Given the description of an element on the screen output the (x, y) to click on. 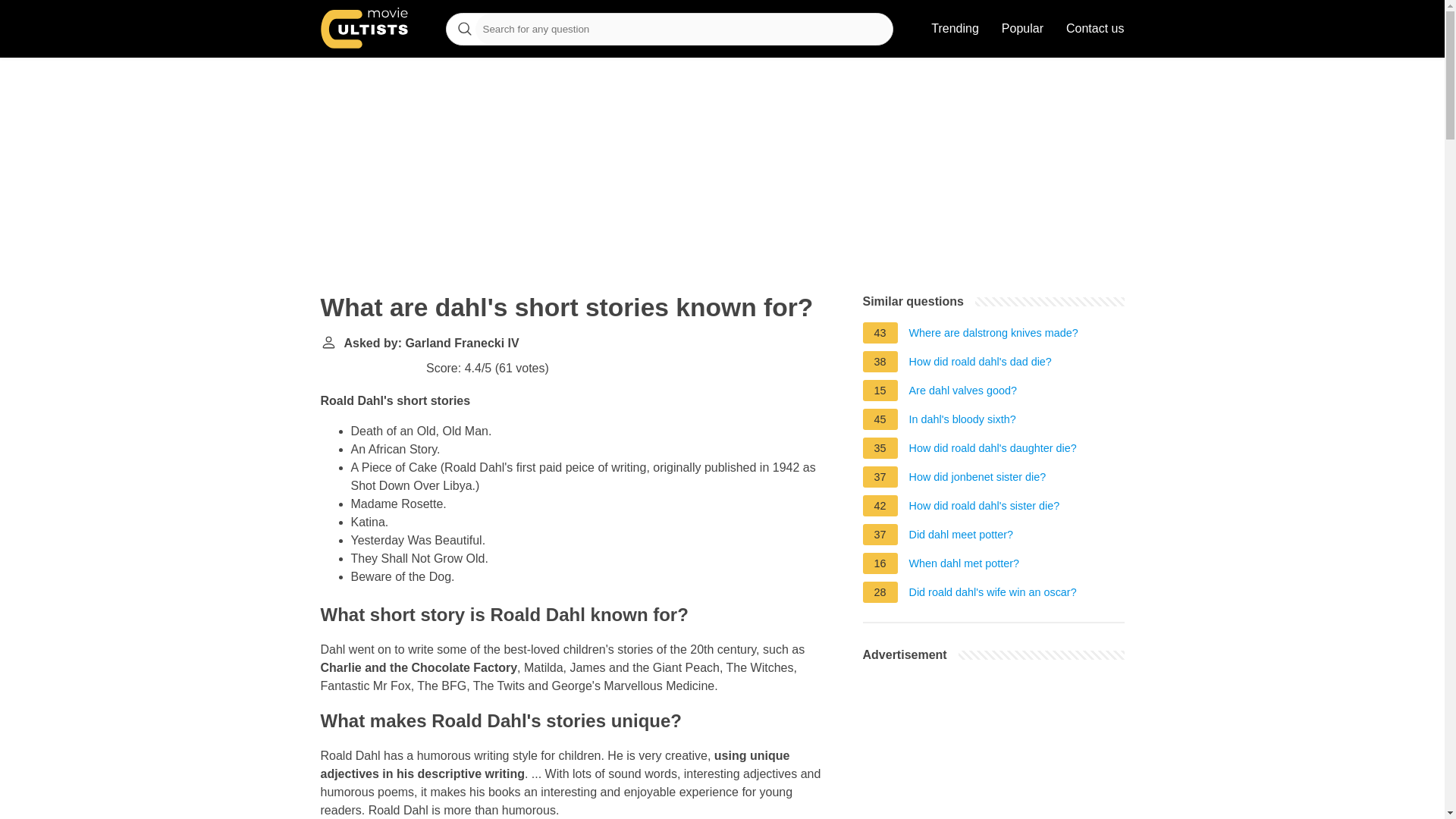
Where are dalstrong knives made? (993, 334)
How did jonbenet sister die? (977, 478)
How did roald dahl's dad die? (979, 363)
Contact us (1094, 28)
Did roald dahl's wife win an oscar? (992, 594)
Trending (954, 28)
How did roald dahl's daughter die? (992, 450)
In dahl's bloody sixth? (962, 421)
Did dahl meet potter? (960, 536)
When dahl met potter? (964, 565)
